Given the description of an element on the screen output the (x, y) to click on. 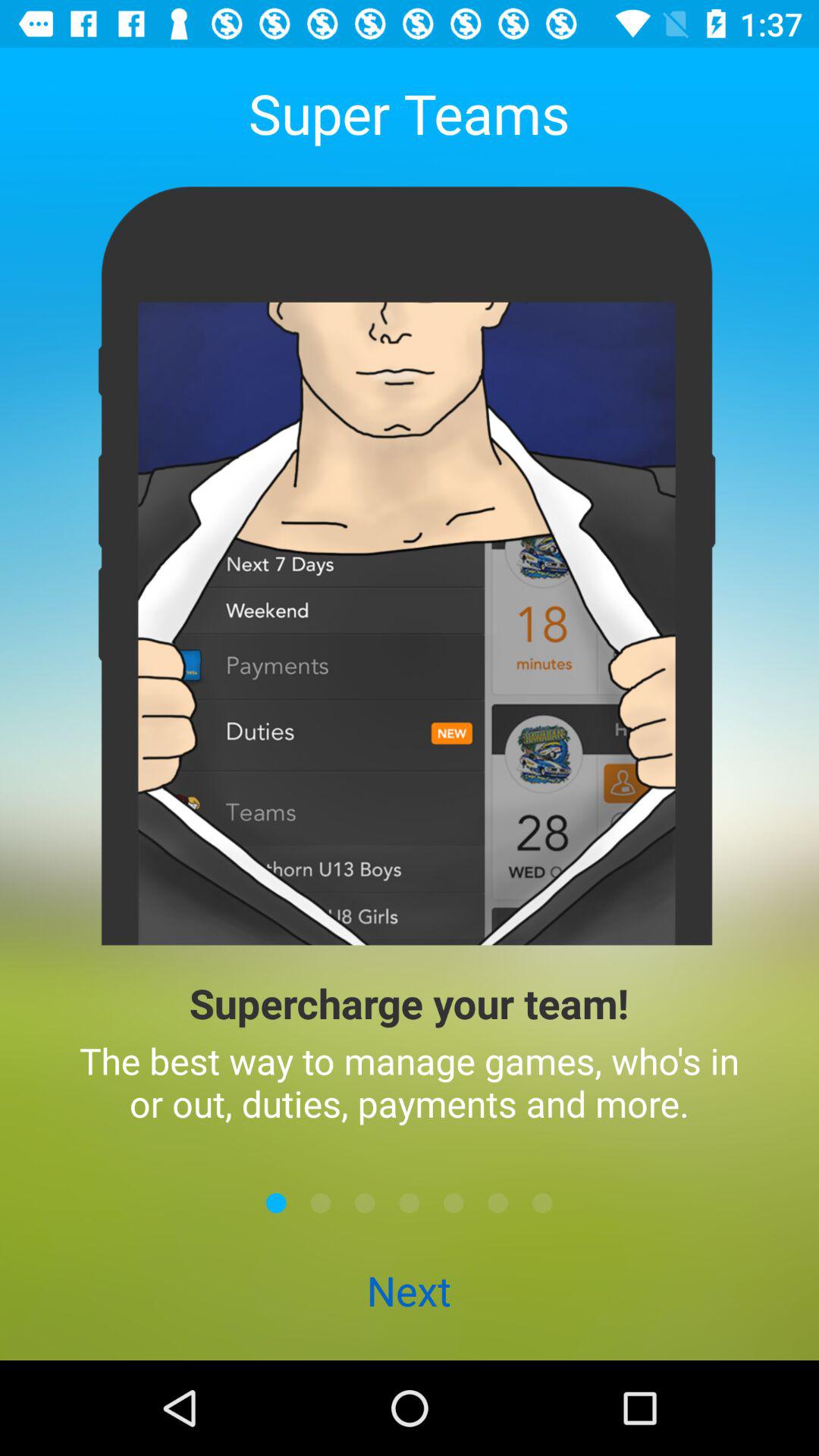
go to next (320, 1203)
